Given the description of an element on the screen output the (x, y) to click on. 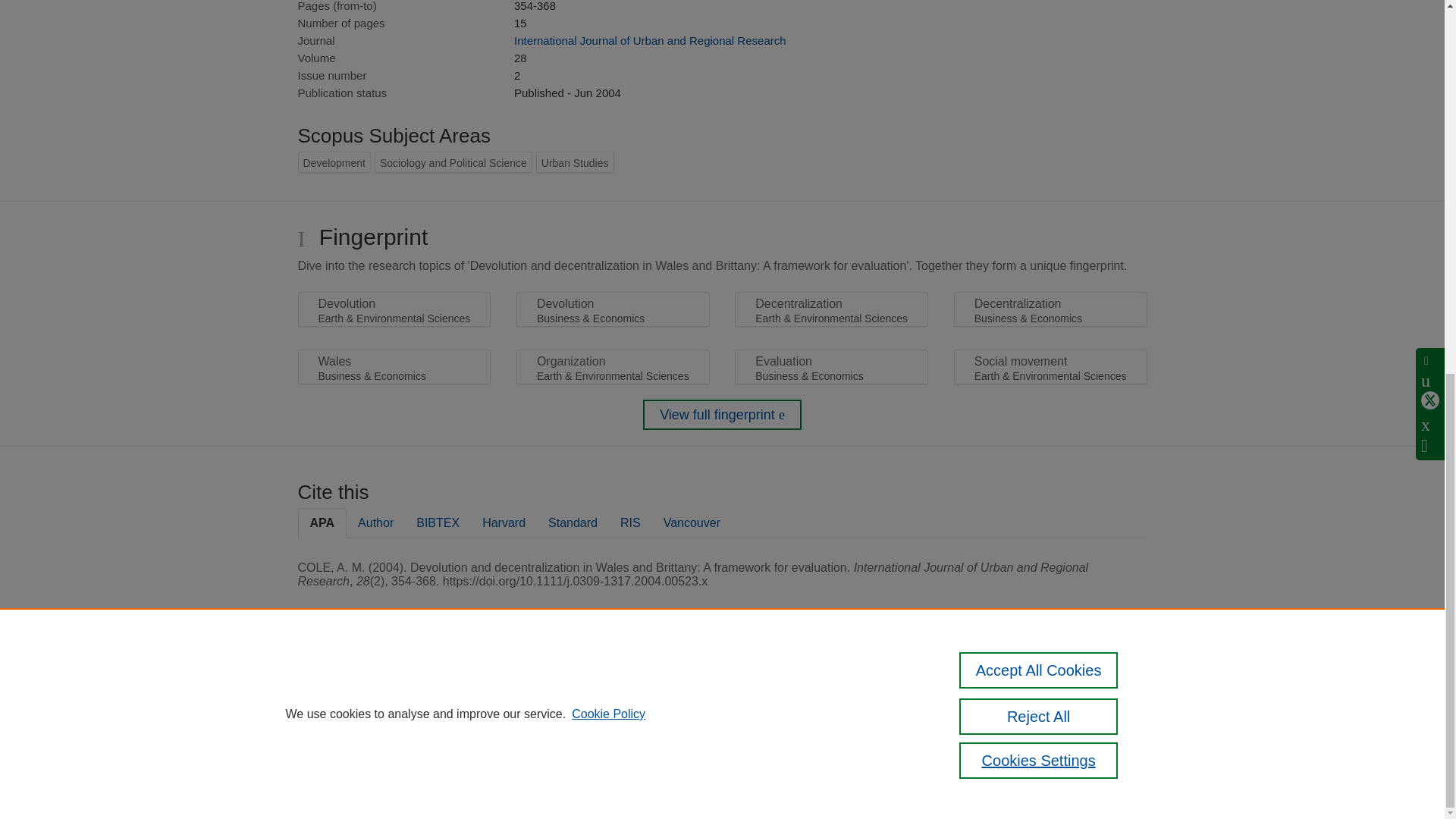
International Journal of Urban and Regional Research (649, 40)
Pure (362, 686)
Scopus (394, 686)
View full fingerprint (722, 414)
